Given the description of an element on the screen output the (x, y) to click on. 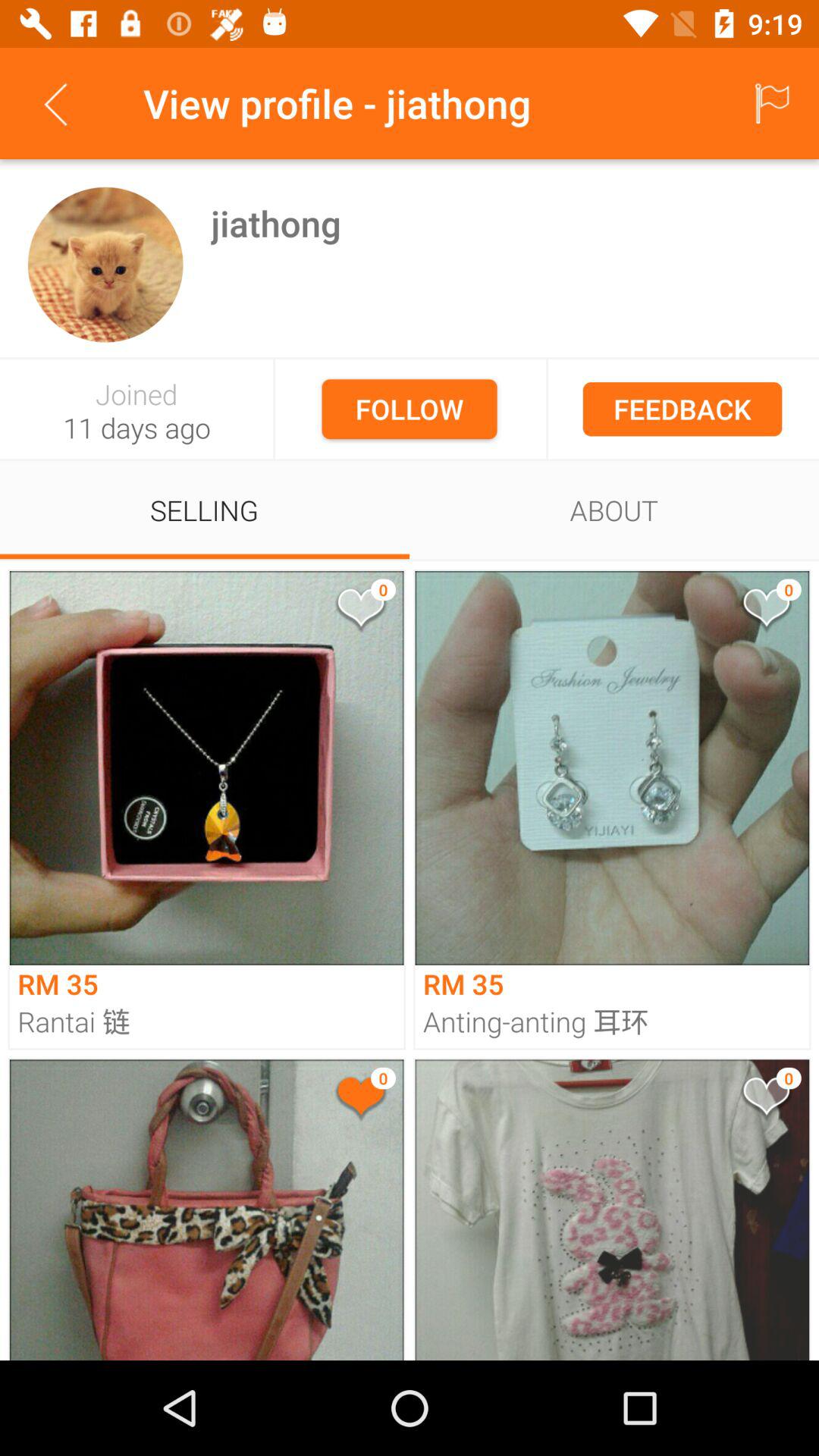
react to photo (765, 610)
